Given the description of an element on the screen output the (x, y) to click on. 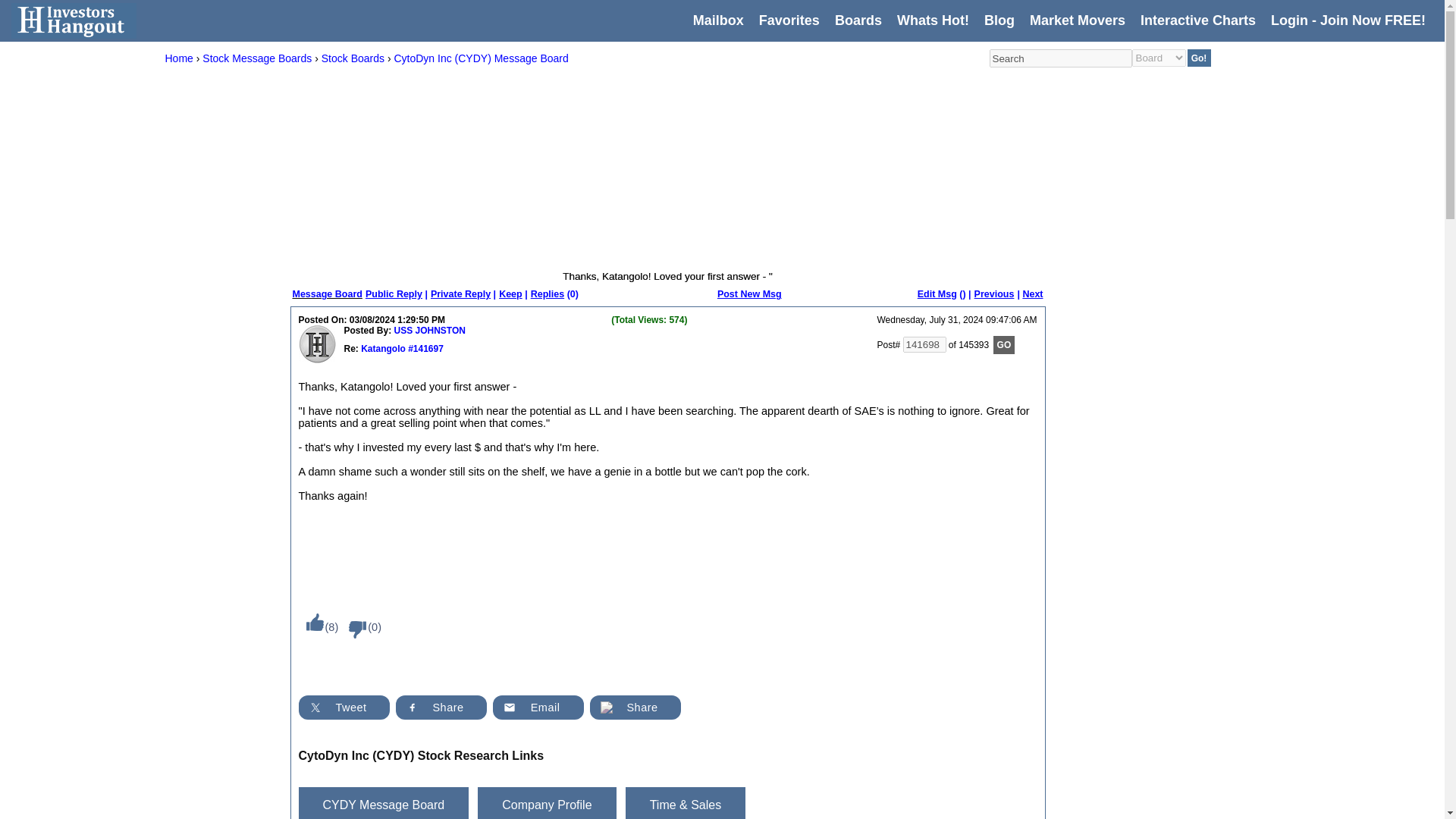
GO (1003, 344)
Go! (1199, 57)
Search (1059, 58)
141698 (923, 344)
Dislike This Post (353, 629)
Login - Join Now FREE! (1348, 20)
Interactive Charts (1197, 20)
Home (179, 58)
Post New Msg (749, 294)
Favorites (788, 20)
Stock Message Boards (256, 58)
Mailbox (718, 20)
Go! (1199, 57)
Like This Post (310, 621)
Message Board (327, 294)
